Given the description of an element on the screen output the (x, y) to click on. 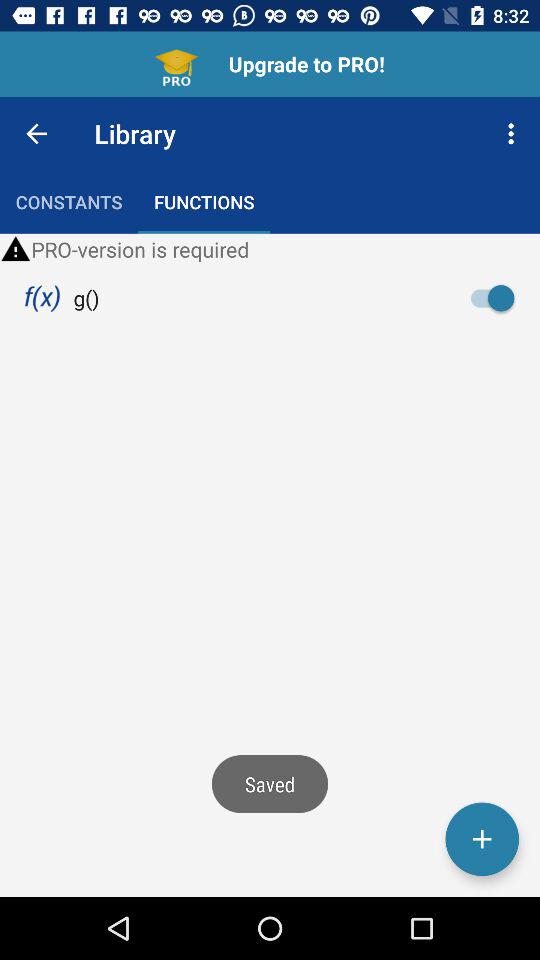
add something (482, 839)
